Given the description of an element on the screen output the (x, y) to click on. 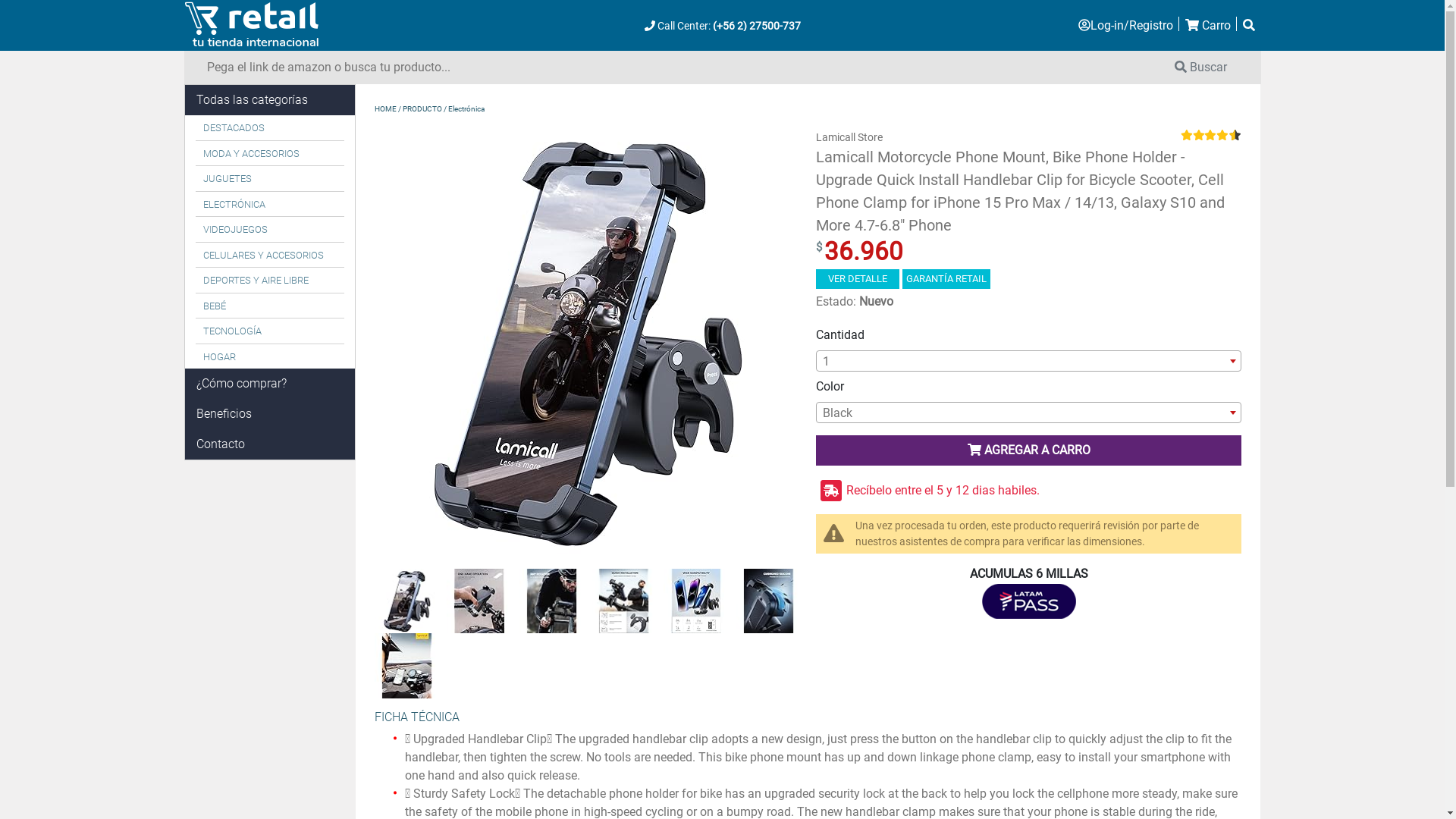
CELULARES Y ACCESORIOS Element type: text (270, 255)
HOME Element type: text (385, 108)
Beneficios Element type: text (223, 413)
VIDEOJUEGOS Element type: text (270, 229)
JUGUETES Element type: text (270, 178)
DEPORTES Y AIRE LIBRE Element type: text (270, 280)
AGREGAR A CARRO Element type: text (1028, 450)
MODA Y ACCESORIOS Element type: text (270, 153)
DESTACADOS Element type: text (270, 128)
Carro Element type: text (1207, 25)
Log-in/Registro Element type: text (1125, 25)
Contacto Element type: text (219, 443)
Call Center: (+56 2) 27500-737 Element type: text (722, 25)
PRODUCTO Element type: text (422, 108)
HOGAR Element type: text (270, 356)
Buscar Element type: text (1200, 67)
